Given the description of an element on the screen output the (x, y) to click on. 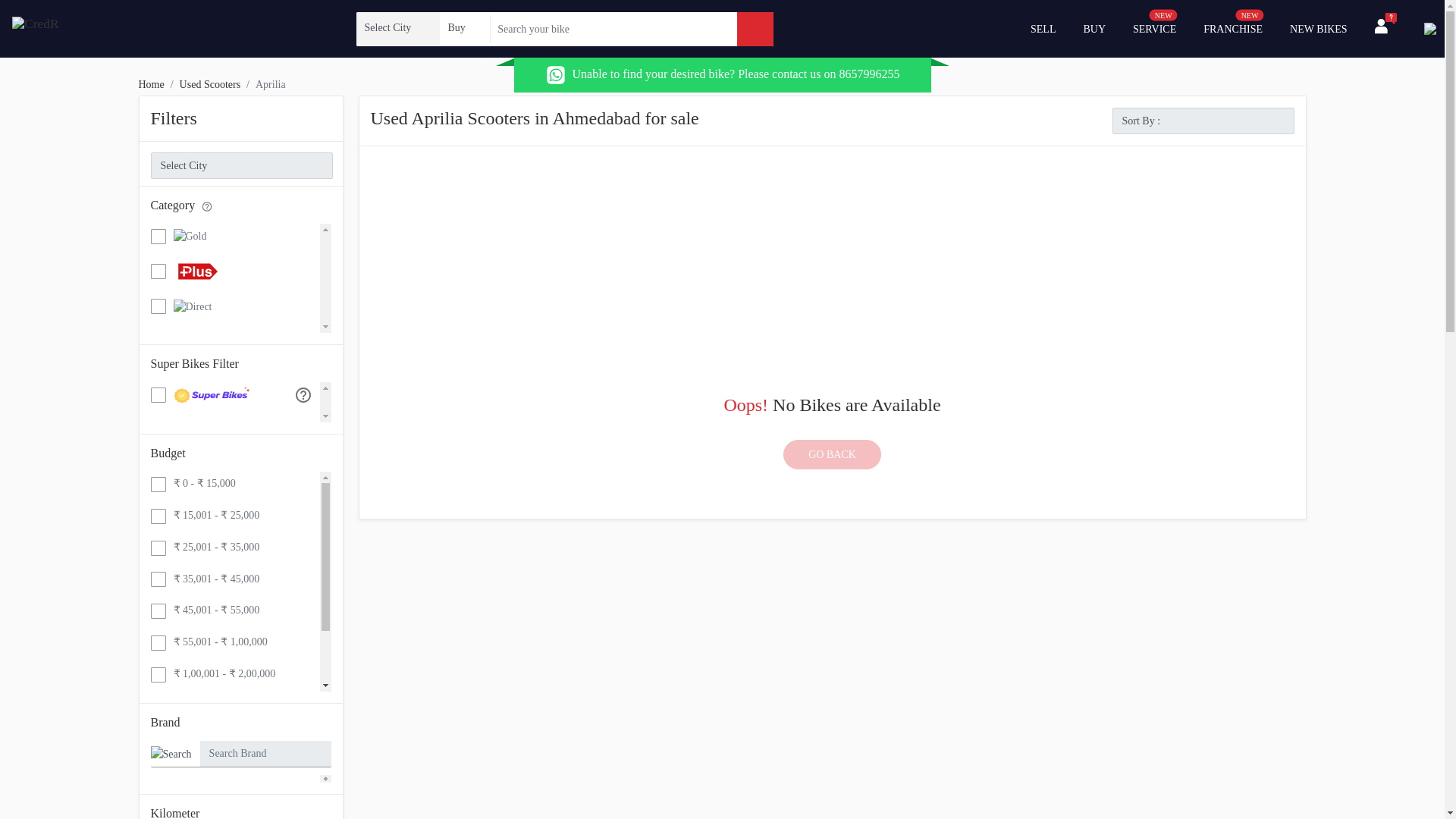
SELL (1042, 28)
NEW BIKES (1318, 28)
GO BACK (831, 454)
Select Option (463, 27)
Select Option (1232, 28)
BUY (1154, 28)
